Given the description of an element on the screen output the (x, y) to click on. 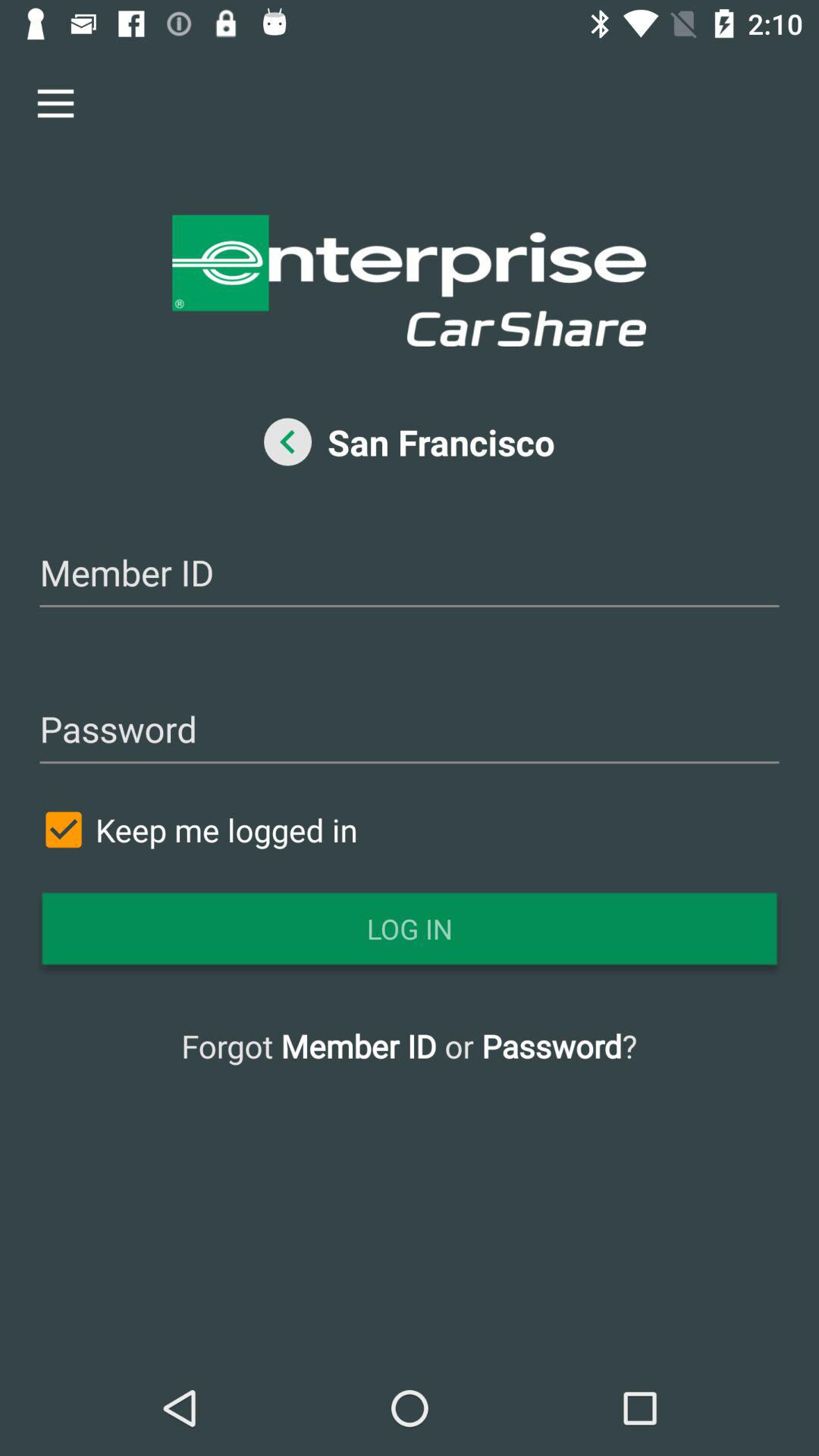
type in your member password (409, 731)
